Given the description of an element on the screen output the (x, y) to click on. 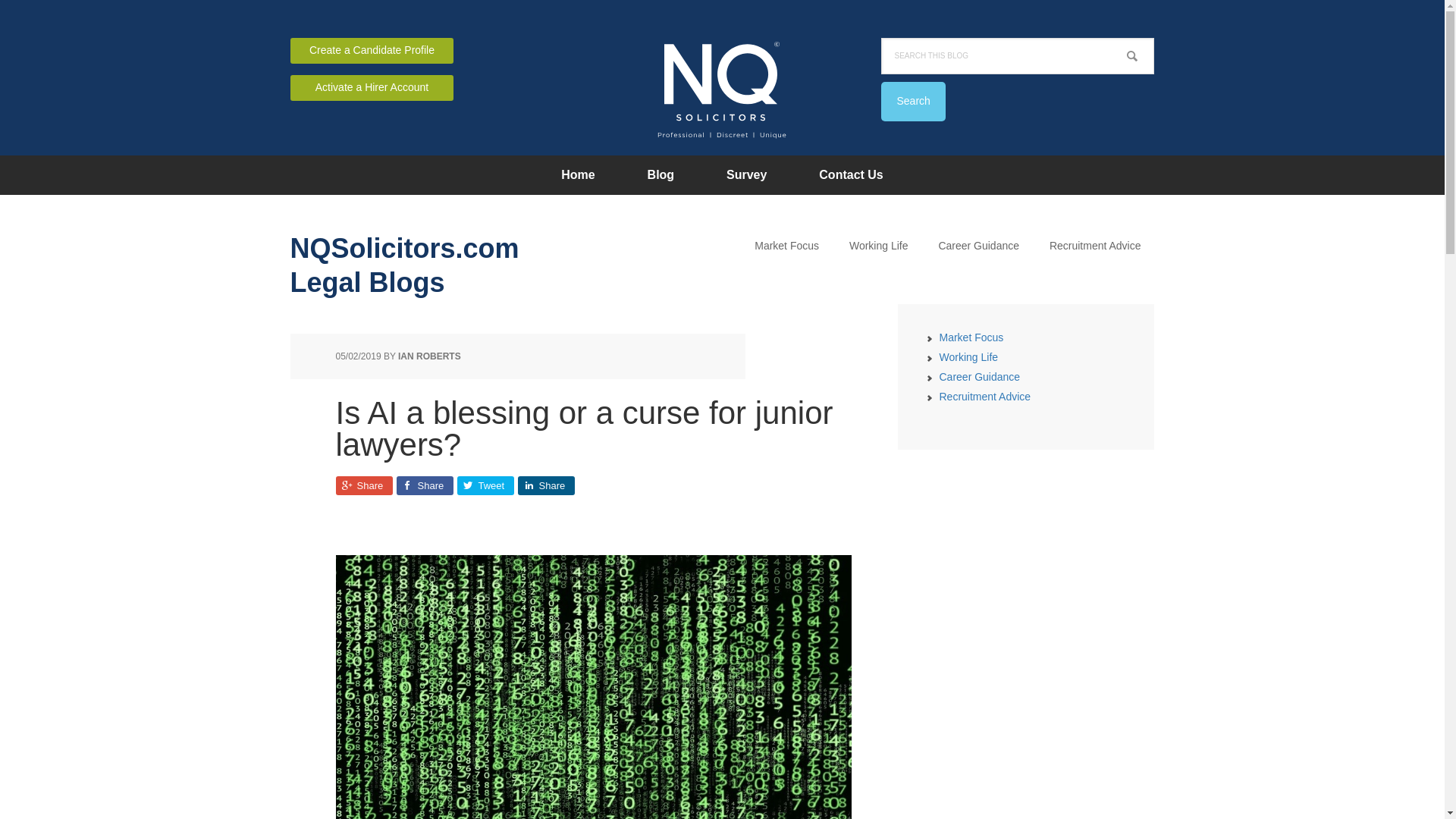
Recruitment Advice (1094, 246)
Tweet (485, 485)
Recruitment Advice (984, 396)
Career Guidance (979, 377)
Activate a Hirer Account (370, 87)
Search (912, 101)
Market Focus (971, 337)
Market Focus (786, 246)
Share (544, 485)
Share (362, 485)
NQSolicitors.com Legal Blogs (410, 254)
Share (424, 485)
Create a Candidate Profile (370, 50)
Working Life (878, 246)
Survey (745, 175)
